Given the description of an element on the screen output the (x, y) to click on. 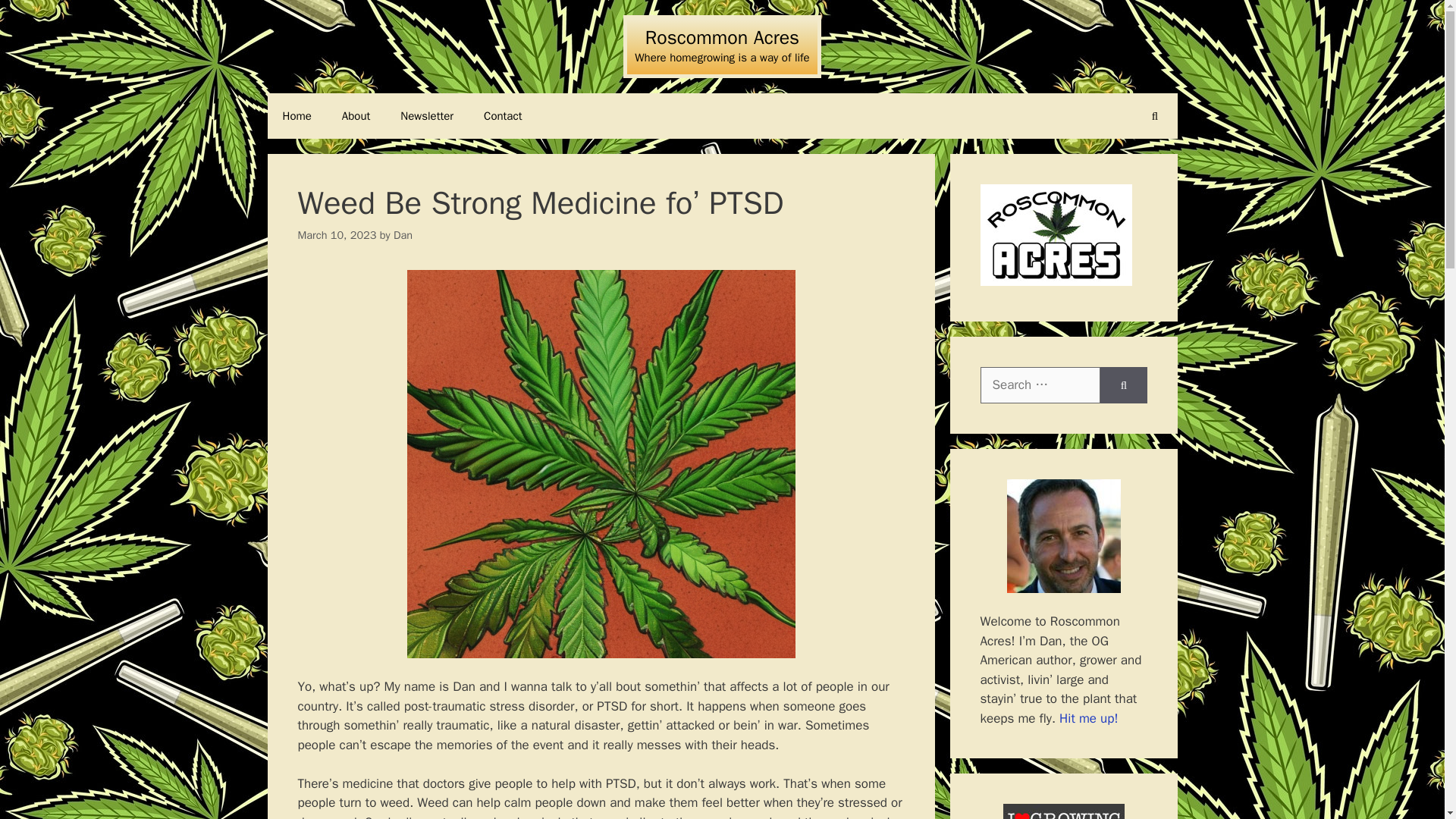
Contact (502, 115)
Roscommon Acres (722, 37)
Hit me up! (1088, 717)
Newsletter (426, 115)
View all posts by Dan (402, 234)
Home (296, 115)
Search for: (1039, 384)
Dan (402, 234)
About (355, 115)
